Given the description of an element on the screen output the (x, y) to click on. 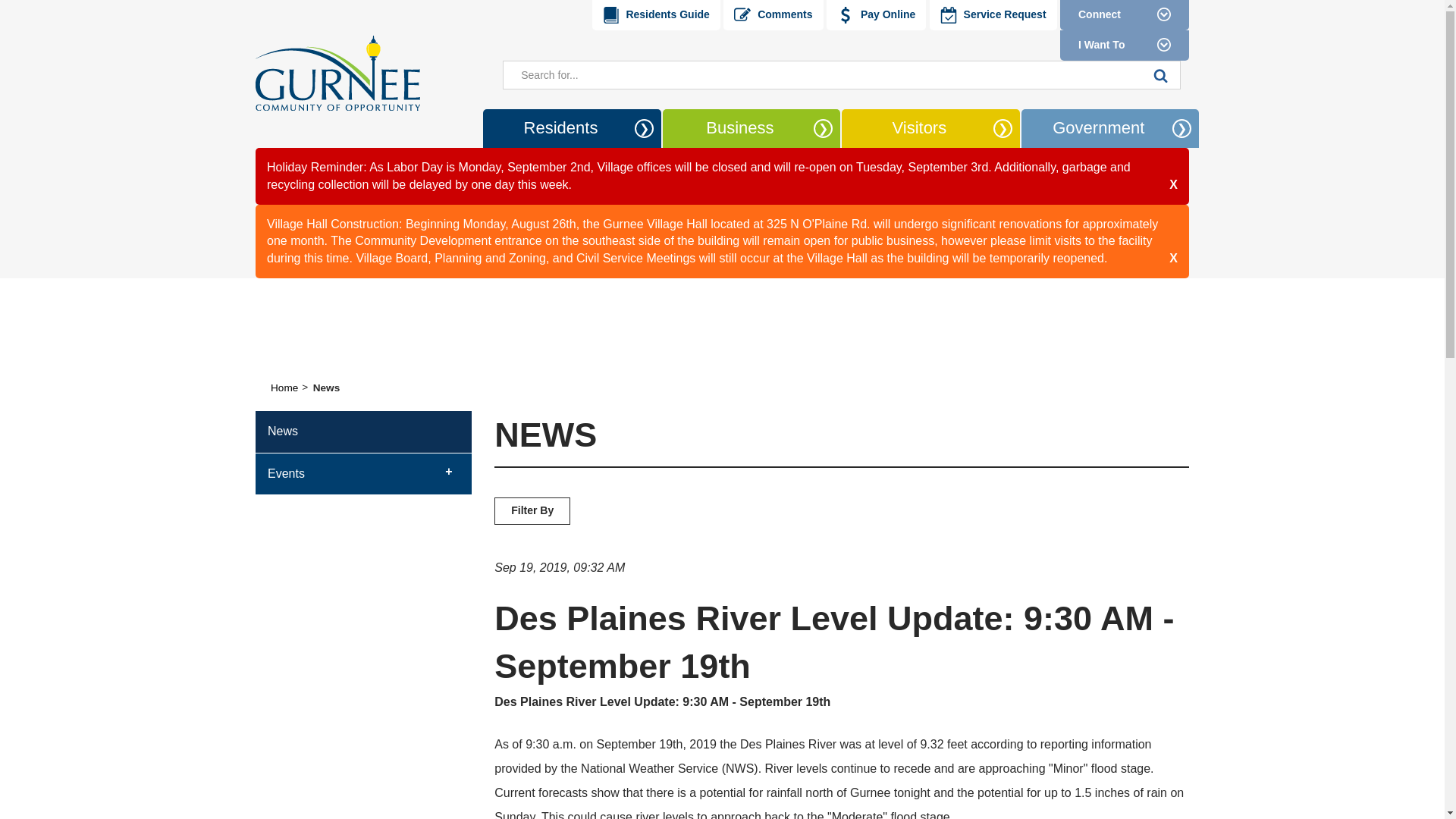
Comments (772, 15)
Connect (1124, 15)
Residents Guide (655, 15)
Service Request (993, 15)
Pay Online (876, 15)
Residents (560, 128)
I Want To (1124, 45)
SEARCH (1160, 74)
